Given the description of an element on the screen output the (x, y) to click on. 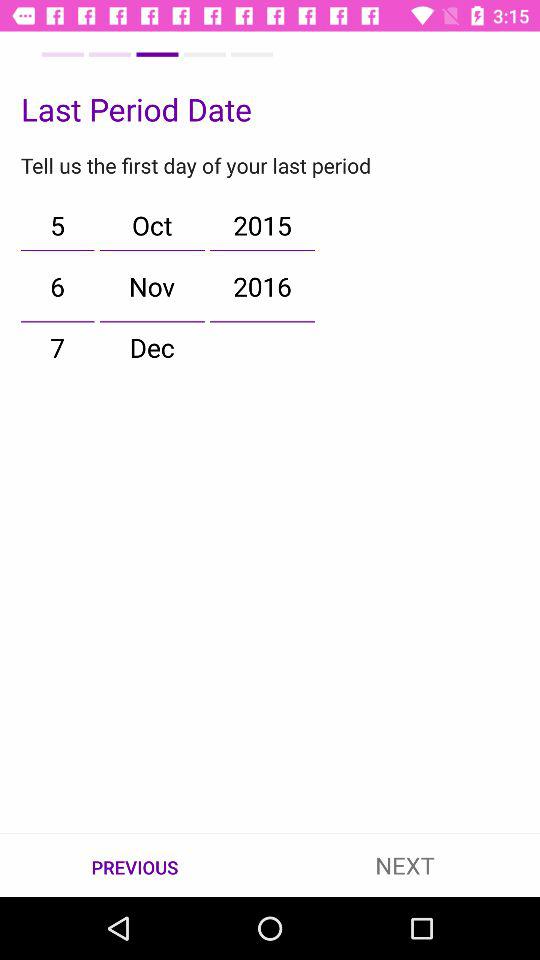
click item to the right of the previous item (405, 864)
